Given the description of an element on the screen output the (x, y) to click on. 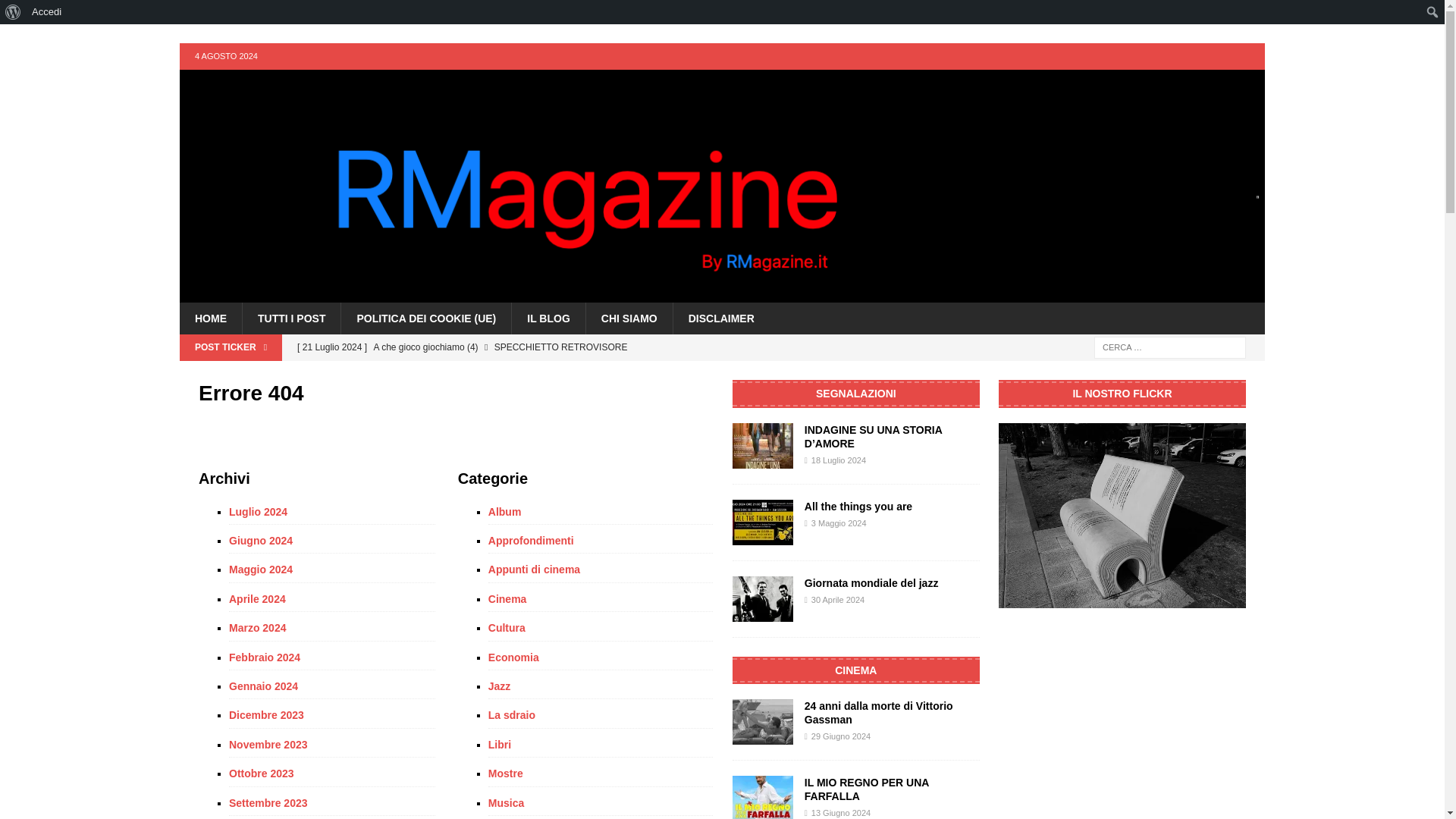
Maggio 2024 (331, 569)
Giugno 2024 (331, 540)
Dicembre 2023 (331, 714)
HOME (210, 318)
DISCLAIMER (721, 318)
Ottobre 2023 (331, 773)
Marzo 2024 (331, 627)
Aprile 2024 (331, 598)
Luglio 2024 (331, 513)
TUTTI I POST (290, 318)
Gennaio 2024 (331, 686)
Cerca (56, 11)
Novembre 2023 (331, 744)
Febbraio 2024 (331, 657)
IL BLOG (548, 318)
